Given the description of an element on the screen output the (x, y) to click on. 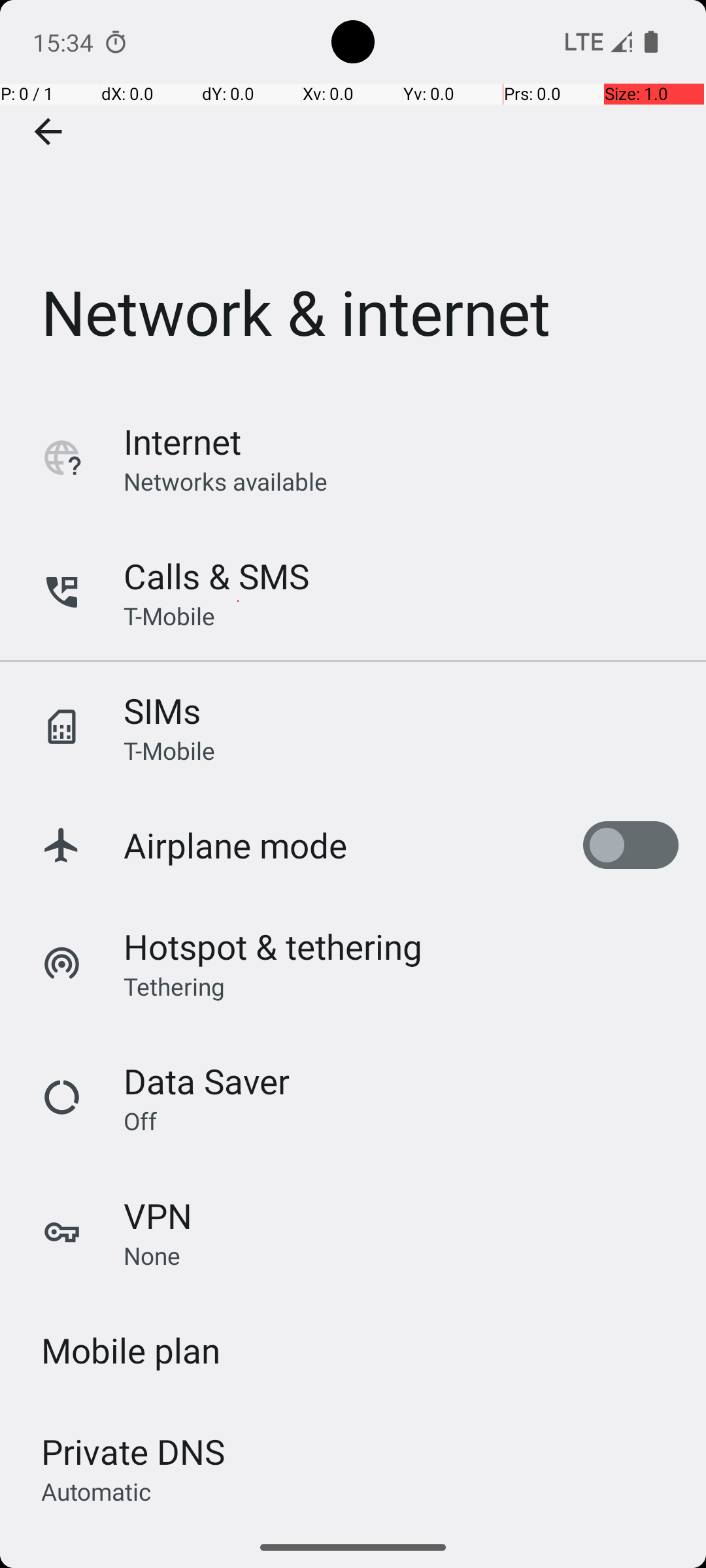
Tethering Element type: android.widget.TextView (174, 985)
